Given the description of an element on the screen output the (x, y) to click on. 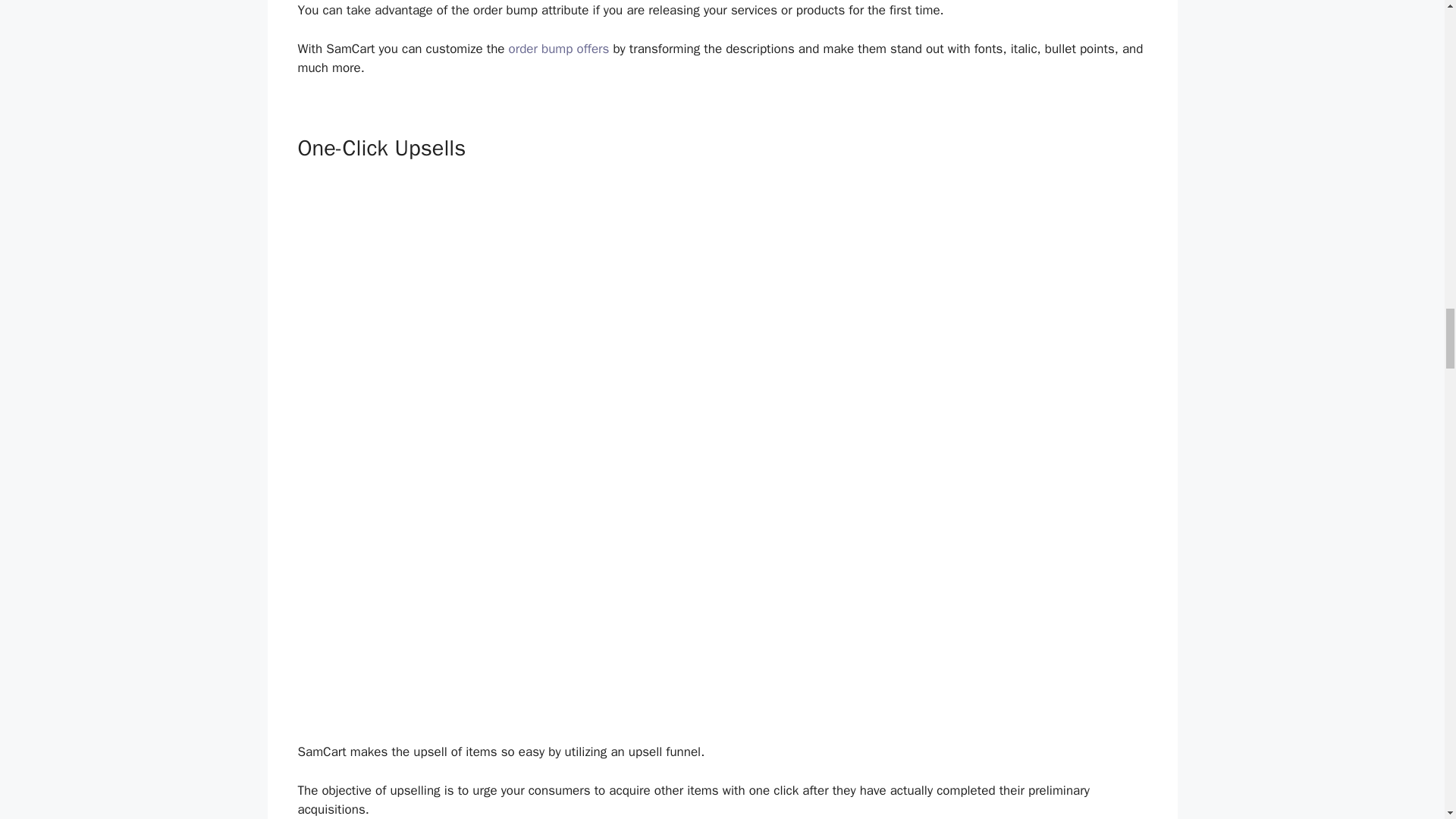
order bump offers (559, 48)
